Given the description of an element on the screen output the (x, y) to click on. 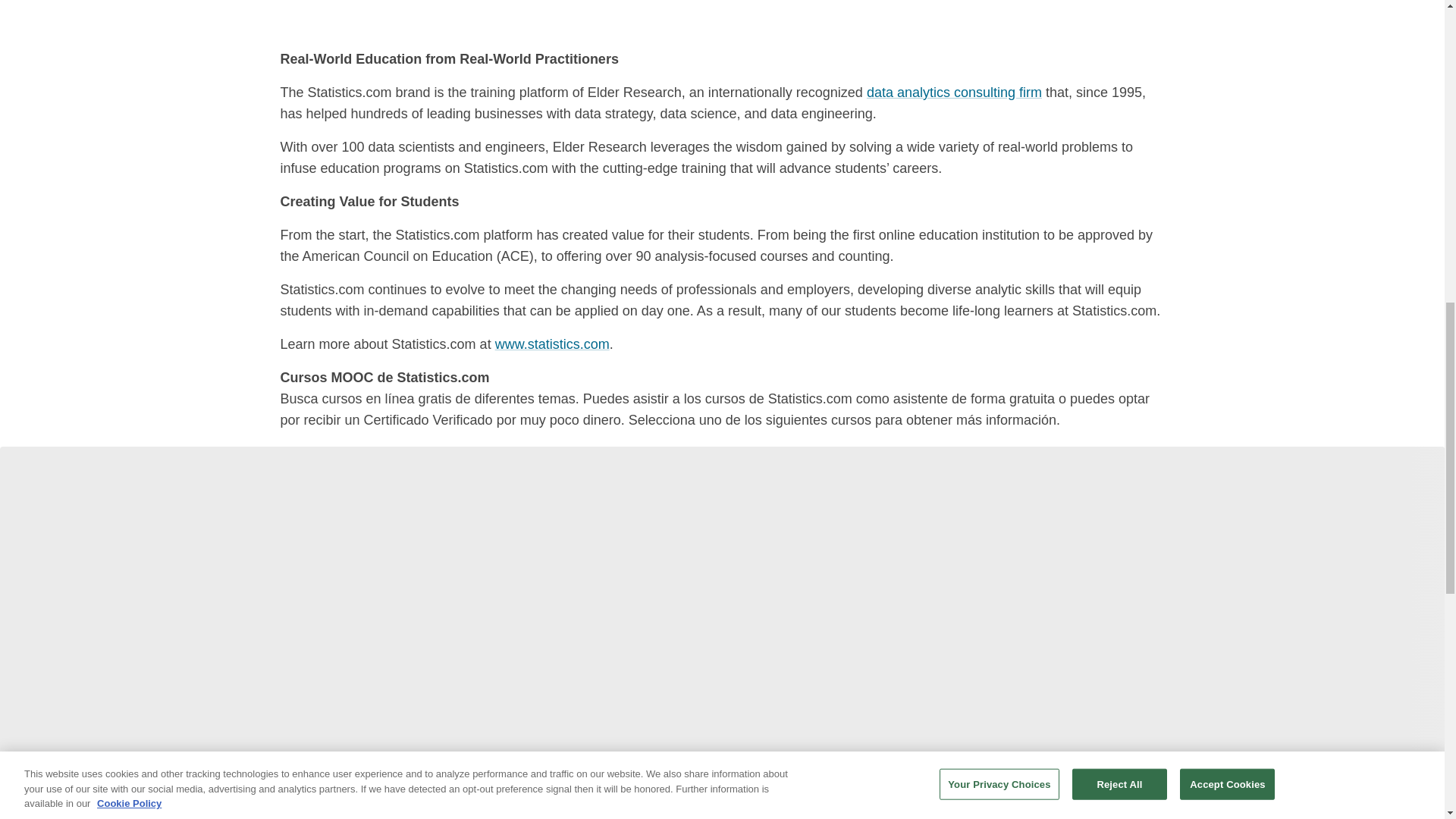
www.statistics.com (552, 344)
YouTube video player (492, 15)
data analytics consulting firm (954, 92)
